Given the description of an element on the screen output the (x, y) to click on. 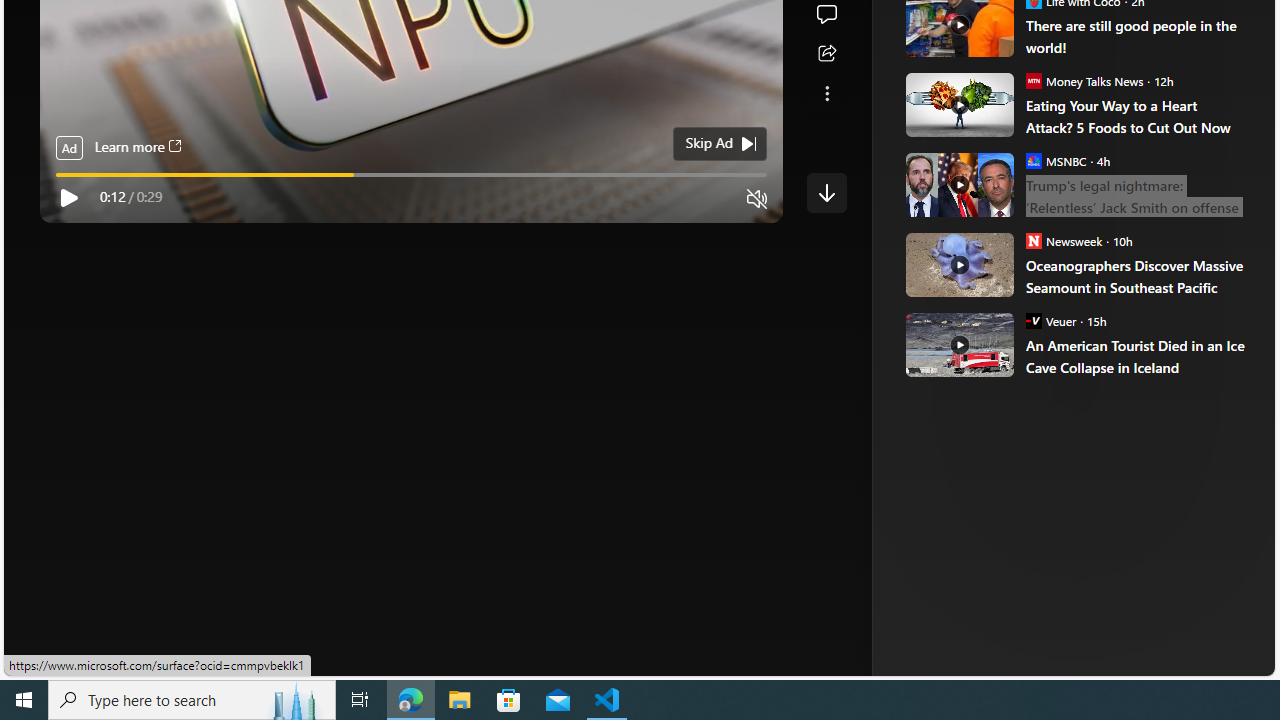
Unmute (757, 199)
ABC News (974, 12)
Eating Your Way to a Heart Attack? 5 Foods to Cut Out Now (958, 104)
An American Tourist Died in an Ice Cave Collapse in Iceland (1136, 356)
Money Talks News Money Talks News (1084, 80)
Class: control (826, 192)
